Given the description of an element on the screen output the (x, y) to click on. 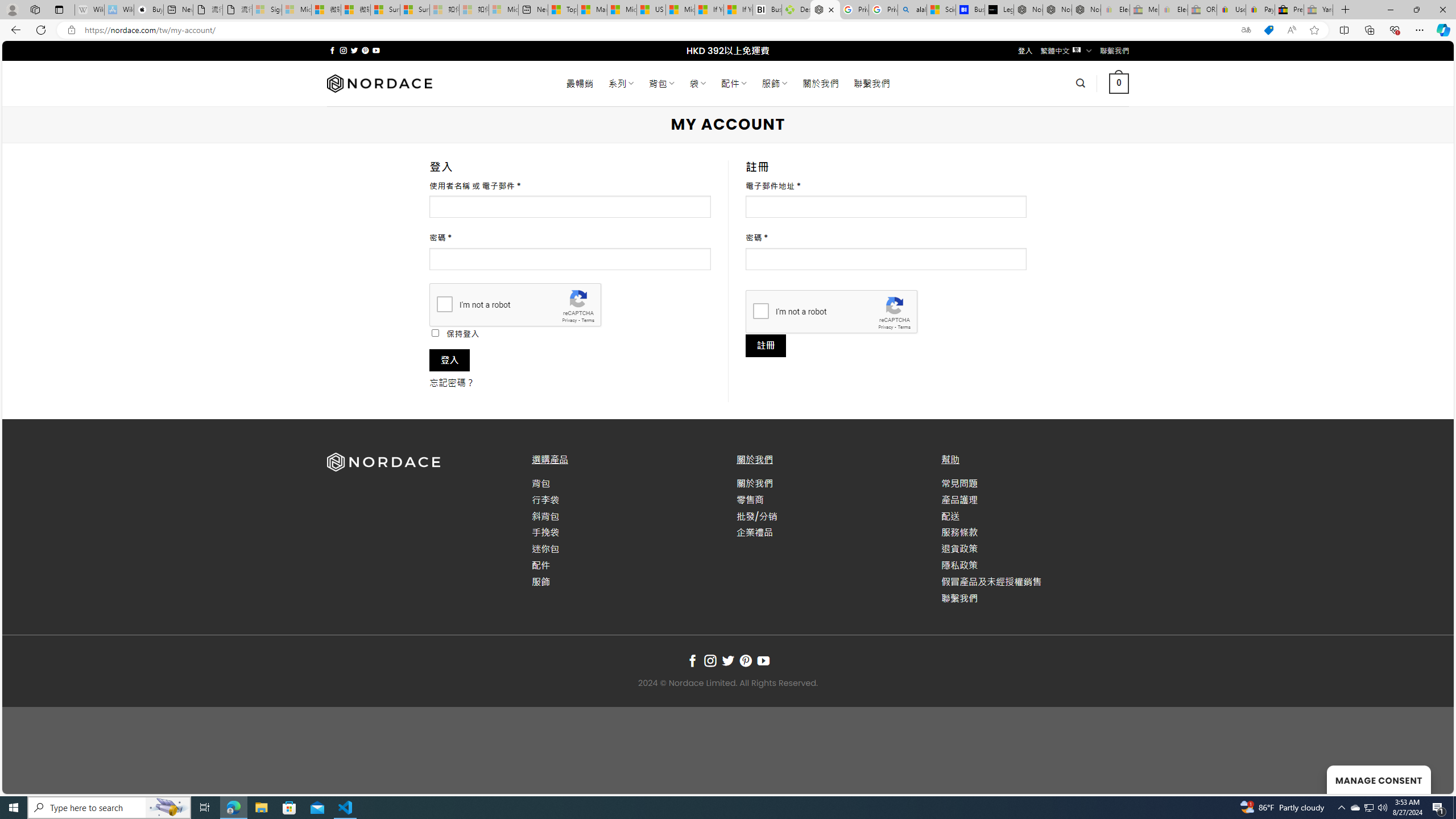
Show translate options (1245, 29)
Buy iPad - Apple (148, 9)
This site has coupons! Shopping in Microsoft Edge (1268, 29)
  0   (1118, 83)
Yard, Garden & Outdoor Living - Sleeping (1318, 9)
